Given the description of an element on the screen output the (x, y) to click on. 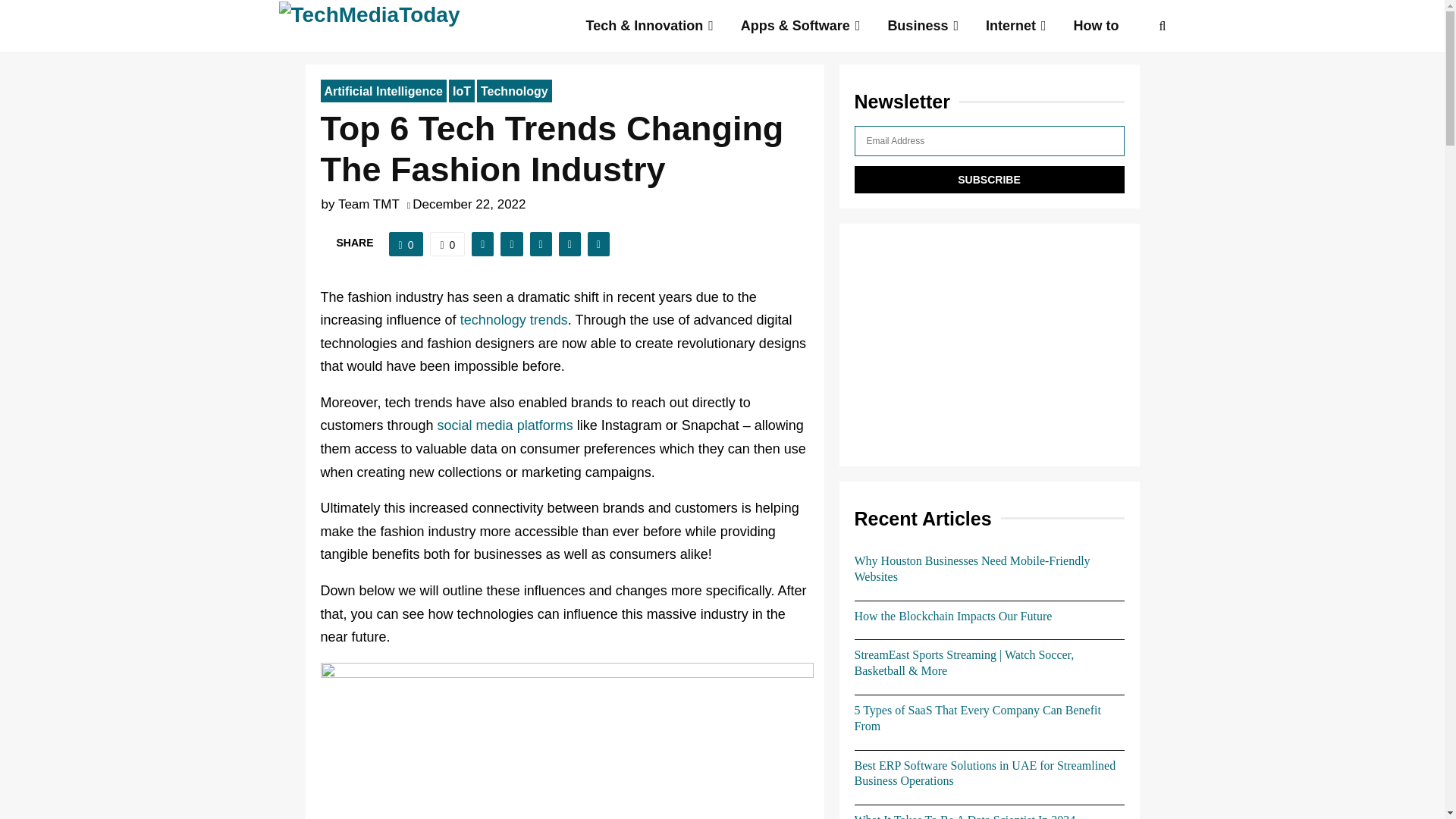
 5 Types of SaaS That Every Company Can Benefit From  (976, 717)
Advertisement (988, 344)
0 (405, 243)
Artificial Intelligence (382, 90)
Internet (1015, 26)
Subscribe (988, 178)
 Why Houston Businesses Need Mobile-Friendly Websites  (971, 568)
Business (922, 26)
Team TMT (367, 204)
IoT (461, 90)
Technology (514, 90)
How to (1095, 26)
social media platforms (505, 425)
technology trends (513, 319)
